Given the description of an element on the screen output the (x, y) to click on. 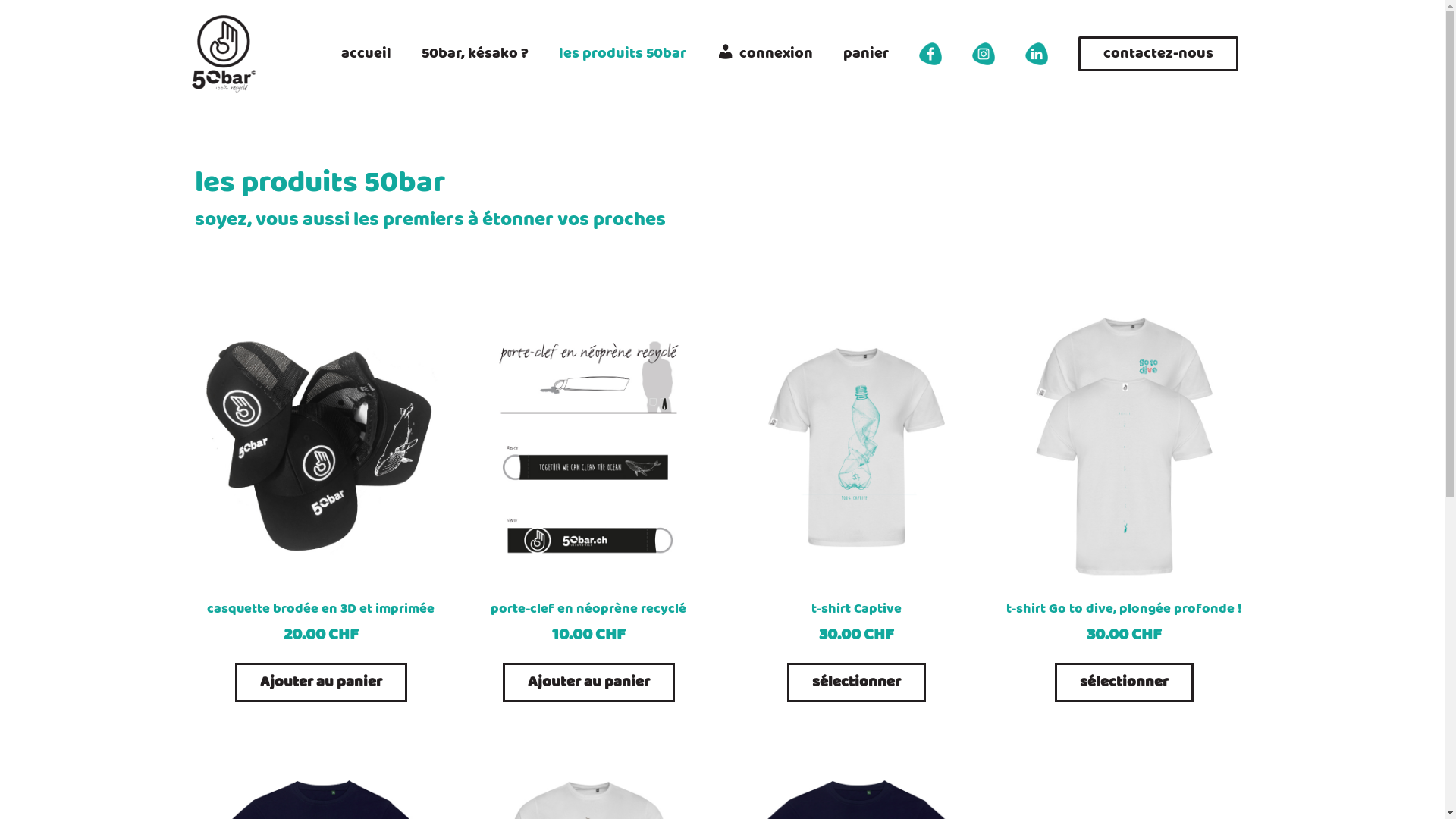
Ajouter au panier Element type: text (321, 682)
les produits 50bar Element type: text (621, 53)
t-shirt Captive Element type: text (855, 609)
accueil Element type: text (366, 53)
Ajouter au panier Element type: text (588, 682)
connexion Element type: text (763, 53)
panier Element type: text (865, 53)
contactez-nous Element type: text (1158, 53)
